Given the description of an element on the screen output the (x, y) to click on. 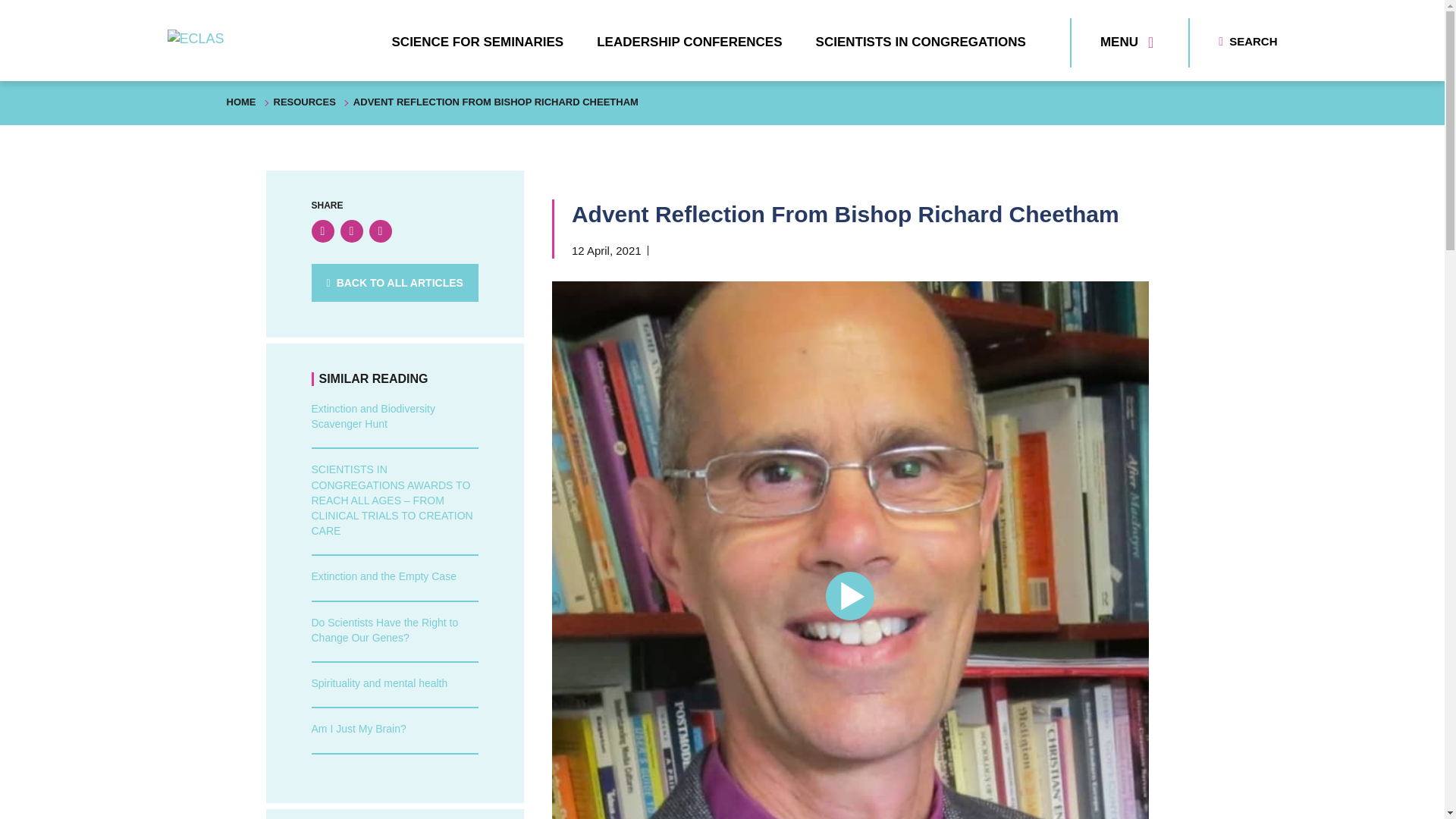
Extinction and the Empty Case (383, 576)
MENU (1126, 42)
Do Scientists Have the Right to Change Our Genes? (384, 629)
LEADERSHIP CONFERENCES (688, 42)
HOME (240, 101)
Am I Just My Brain? (358, 728)
SEARCH (1247, 41)
SCIENCE FOR SEMINARIES (477, 42)
Extinction and Biodiversity Scavenger Hunt (372, 415)
Go to Home. (240, 101)
BACK TO ALL ARTICLES (394, 282)
SCIENTISTS IN CONGREGATIONS (920, 42)
Spirituality and mental health (378, 683)
RESOURCES (303, 101)
Go to Resources. (303, 101)
